Given the description of an element on the screen output the (x, y) to click on. 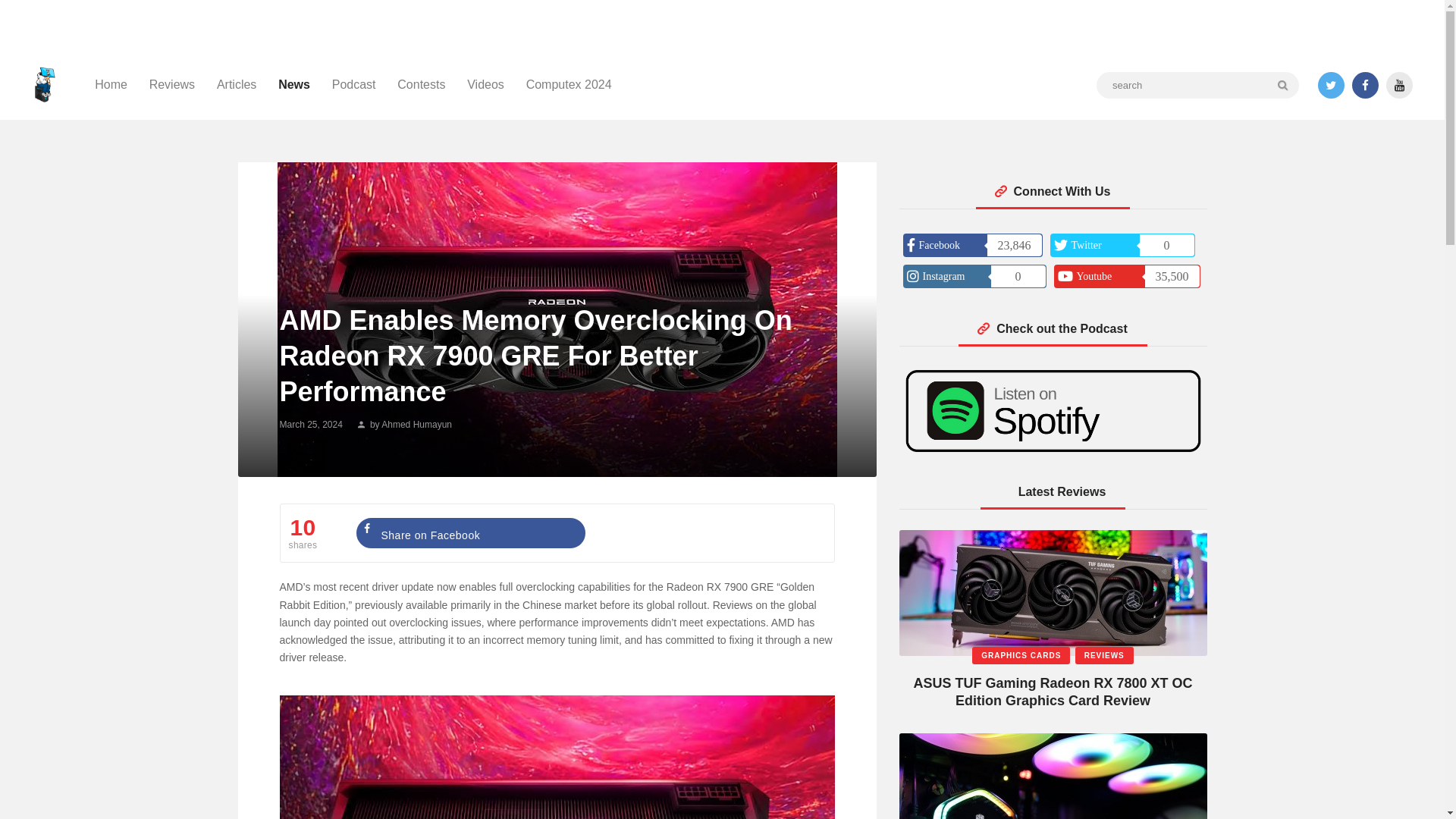
News (294, 85)
Reviews (171, 85)
Share on Facebook (470, 532)
Home (111, 85)
Share on X (703, 532)
Articles (236, 85)
